Given the description of an element on the screen output the (x, y) to click on. 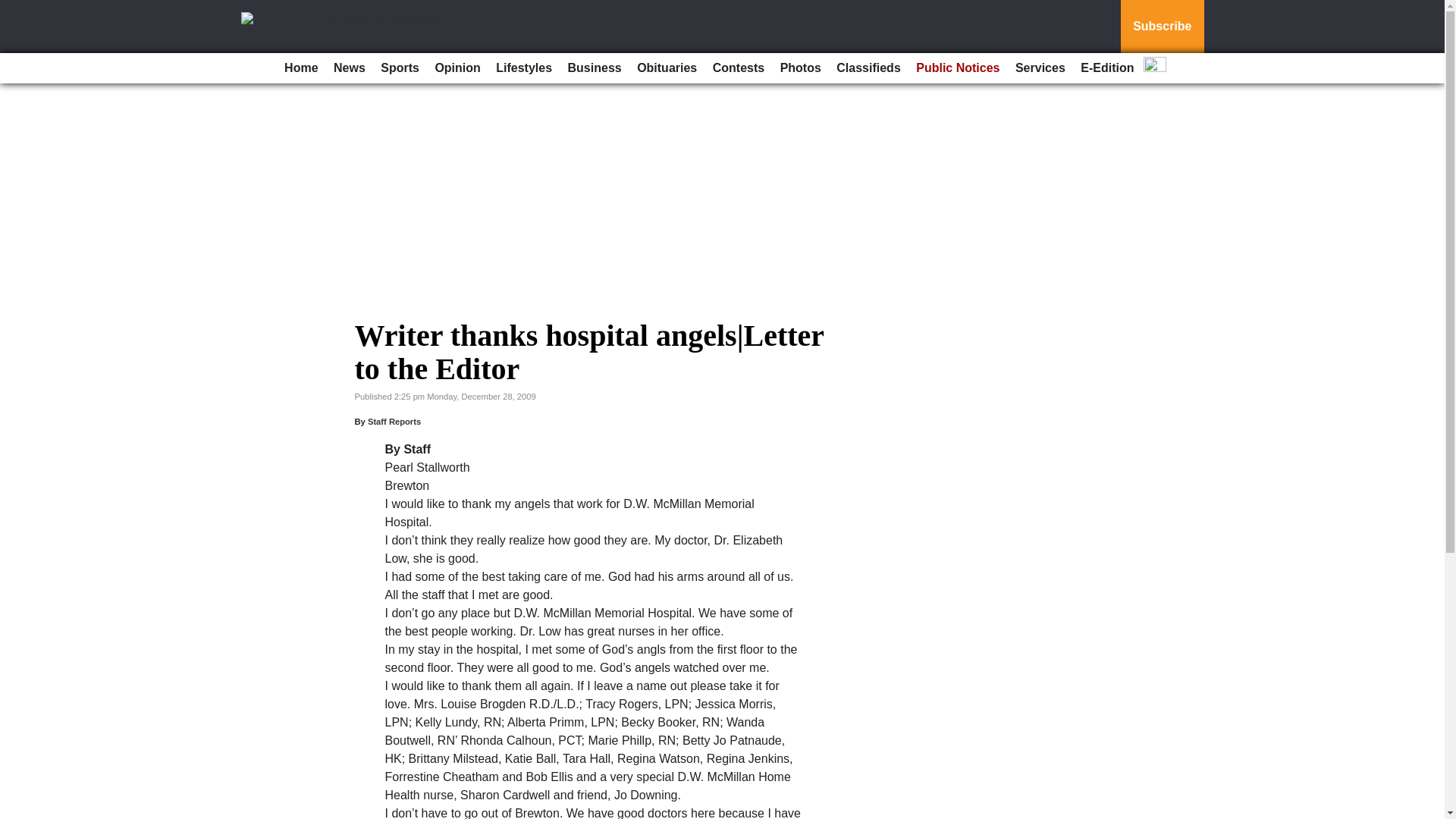
Go (13, 9)
Opinion (457, 68)
Classifieds (867, 68)
Subscribe (1162, 26)
Business (594, 68)
Staff Reports (394, 420)
Obituaries (666, 68)
Contests (738, 68)
Photos (800, 68)
Home (300, 68)
